Given the description of an element on the screen output the (x, y) to click on. 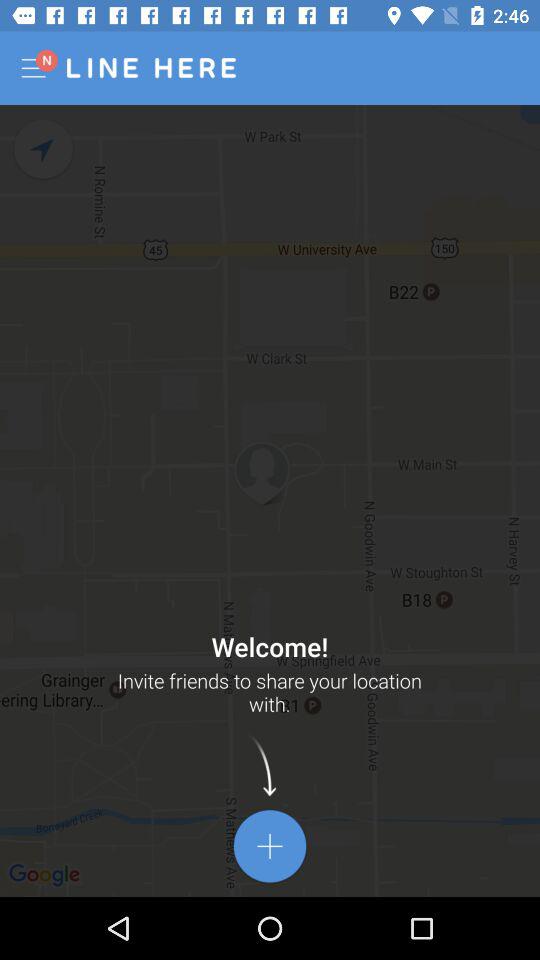
add it (269, 846)
